Given the description of an element on the screen output the (x, y) to click on. 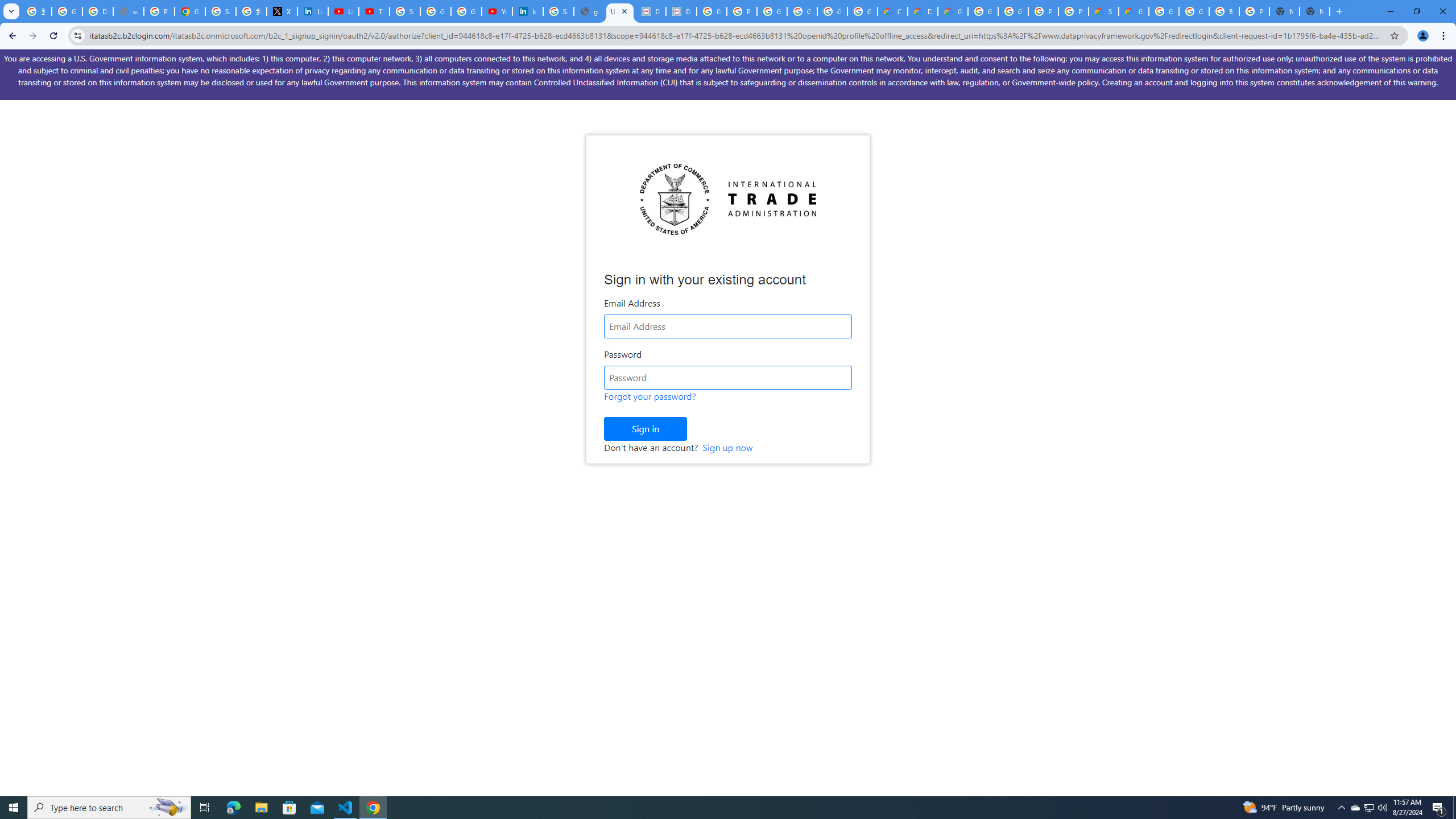
Sign in - Google Accounts (220, 11)
International Trade Administration (727, 199)
Google Cloud Platform (982, 11)
LinkedIn Privacy Policy (312, 11)
support.google.com - Network error (127, 11)
Privacy Help Center - Policies Help (158, 11)
X (282, 11)
